Given the description of an element on the screen output the (x, y) to click on. 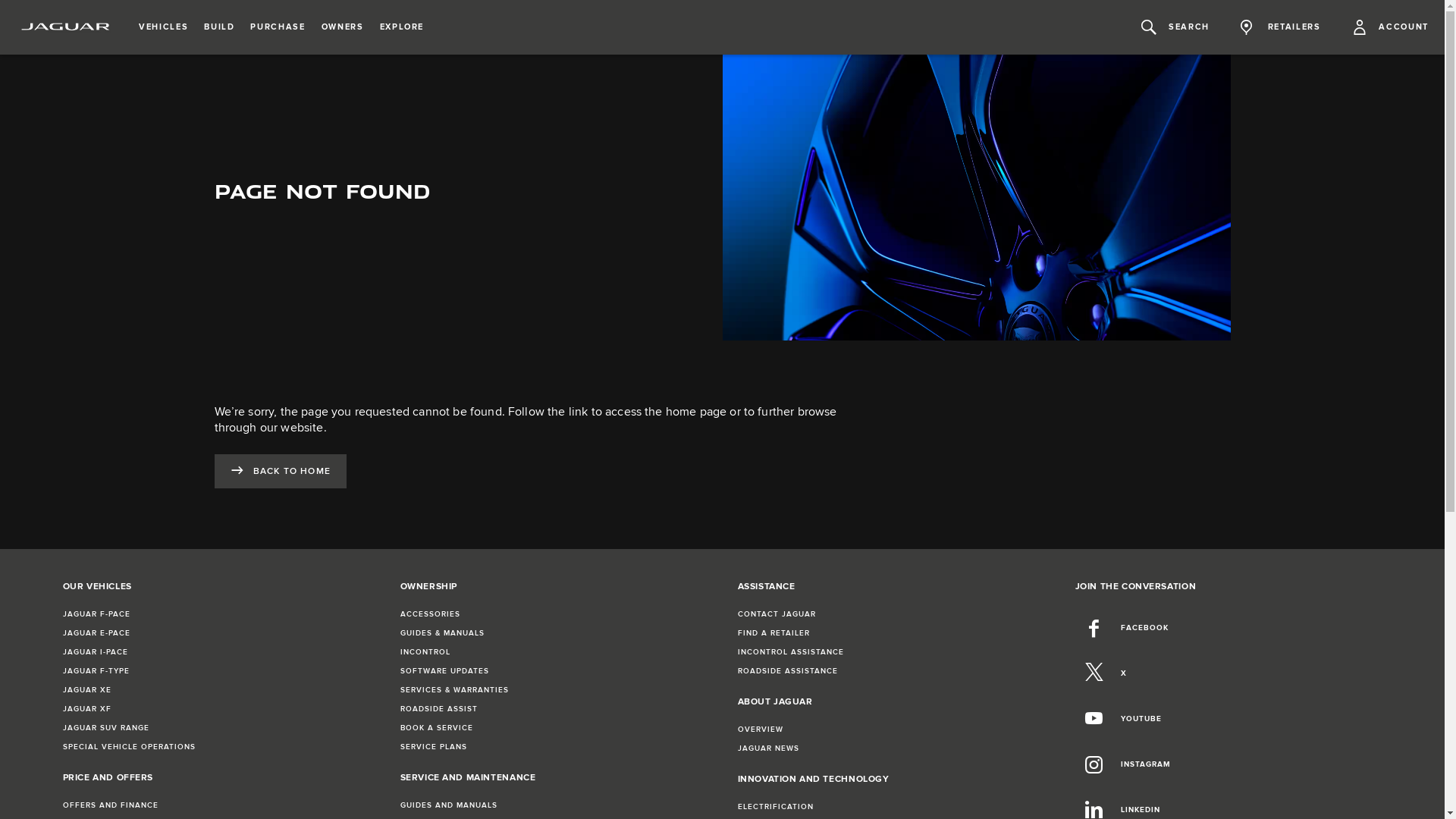
INCONTROL ASSISTANCE Element type: text (790, 651)
YOUTUBE Element type: text (1118, 718)
JAGUAR XE Element type: text (86, 689)
FACEBOOK Element type: text (1121, 627)
OWNERS Element type: text (342, 27)
JAGUAR NEWS Element type: text (767, 748)
OFFERS AND FINANCE Element type: text (109, 804)
SEARCH Element type: text (1175, 27)
JAGUAR XF Element type: text (86, 708)
ACCESSORIES Element type: text (430, 613)
VEHICLES Element type: text (163, 27)
SERVICE PLANS Element type: text (433, 746)
ACCOUNT Element type: text (1389, 27)
GUIDES & MANUALS Element type: text (442, 632)
BOOK A SERVICE Element type: text (436, 727)
SPECIAL VEHICLE OPERATIONS Element type: text (128, 746)
RETAILERS Element type: text (1280, 27)
PURCHASE Element type: text (277, 27)
ELECTRIFICATION Element type: text (774, 806)
X Element type: text (1100, 673)
SERVICES & WARRANTIES Element type: text (454, 689)
OVERVIEW Element type: text (759, 729)
INCONTROL Element type: text (425, 651)
INSTAGRAM Element type: text (1122, 764)
BACK TO HOME Element type: text (279, 471)
ROADSIDE ASSISTANCE Element type: text (787, 670)
FIND A RETAILER Element type: text (773, 632)
EXPLORE Element type: text (402, 27)
JAGUAR SUV RANGE Element type: text (105, 727)
BUILD Element type: text (218, 27)
SOFTWARE UPDATES Element type: text (444, 670)
GUIDES AND MANUALS Element type: text (448, 804)
ROADSIDE ASSIST Element type: text (438, 708)
CONTACT JAGUAR Element type: text (776, 613)
